Given the description of an element on the screen output the (x, y) to click on. 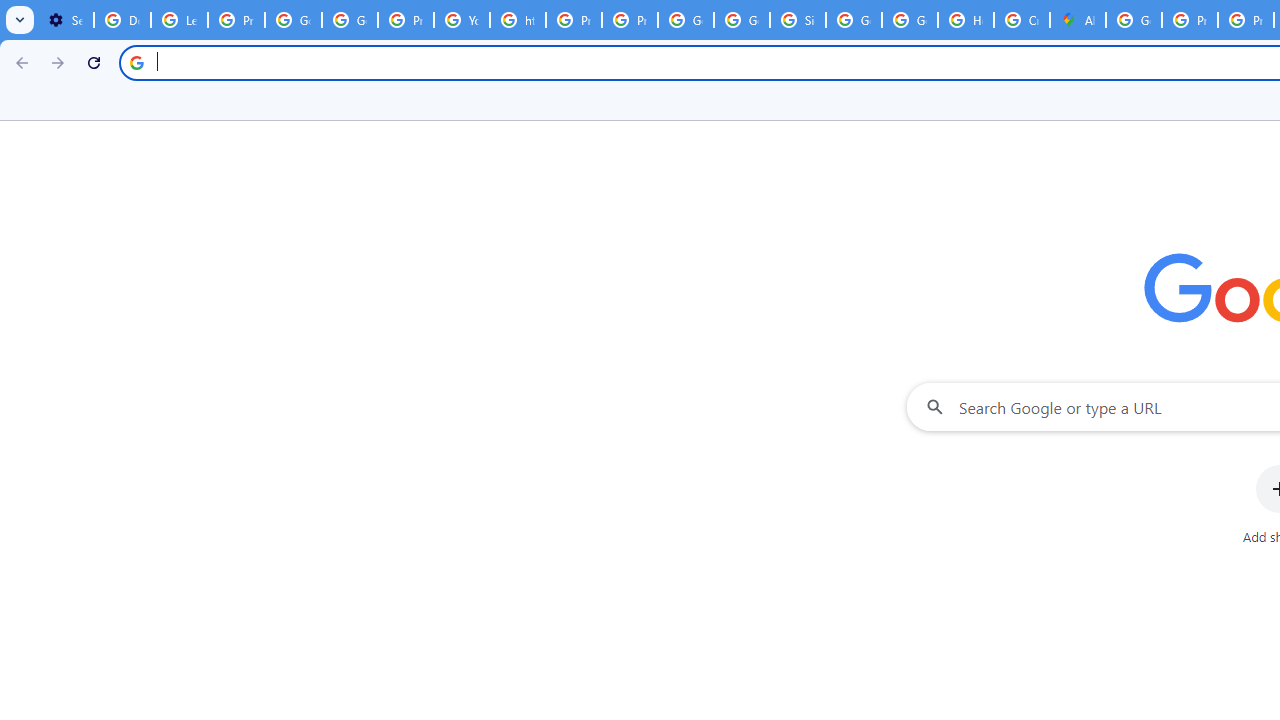
Sign in - Google Accounts (797, 20)
Create your Google Account (1021, 20)
Privacy Help Center - Policies Help (1190, 20)
Settings - On startup (65, 20)
